Given the description of an element on the screen output the (x, y) to click on. 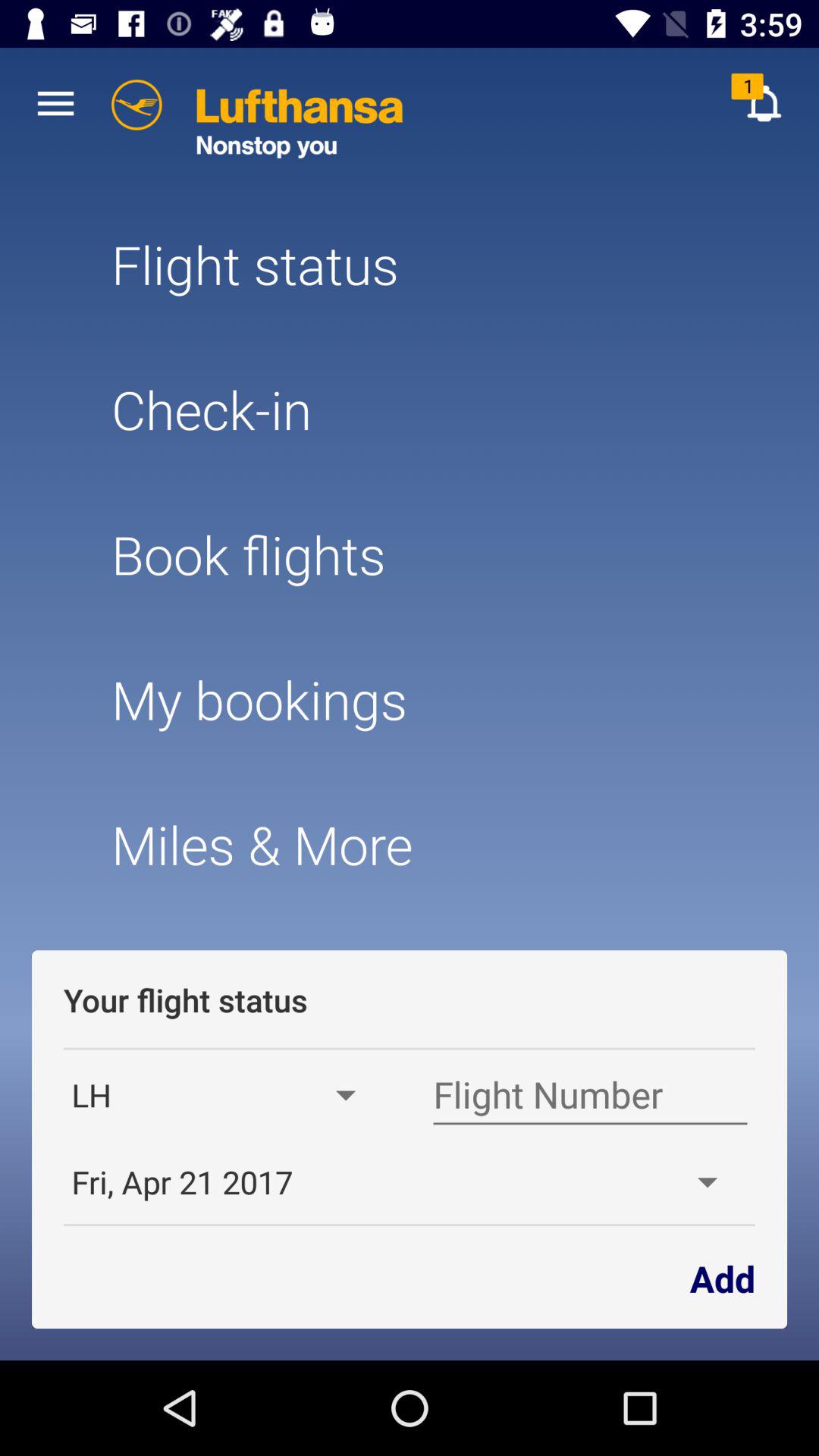
jump to the check-in item (409, 409)
